Given the description of an element on the screen output the (x, y) to click on. 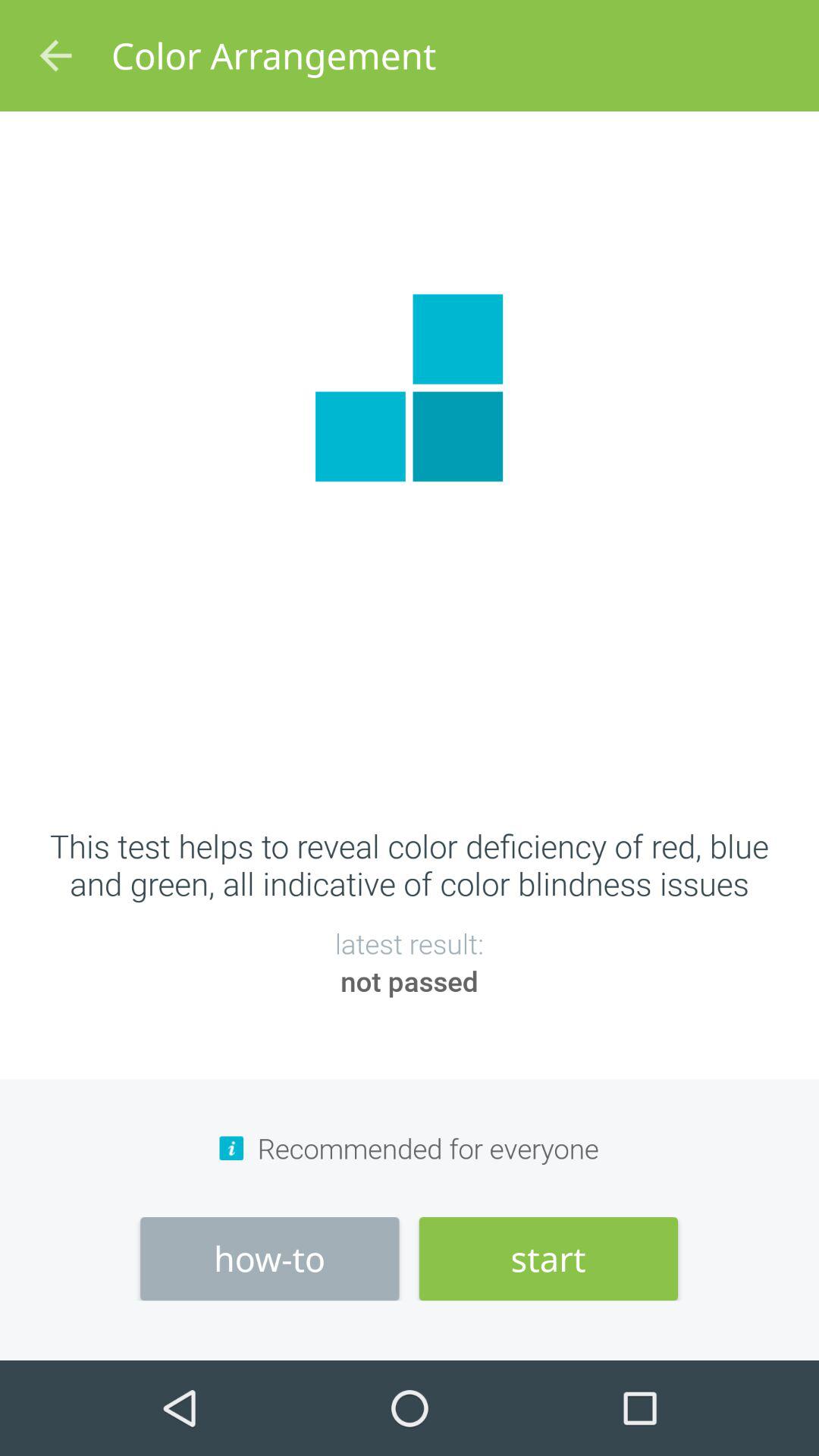
turn off icon next to the color arrangement (55, 55)
